Given the description of an element on the screen output the (x, y) to click on. 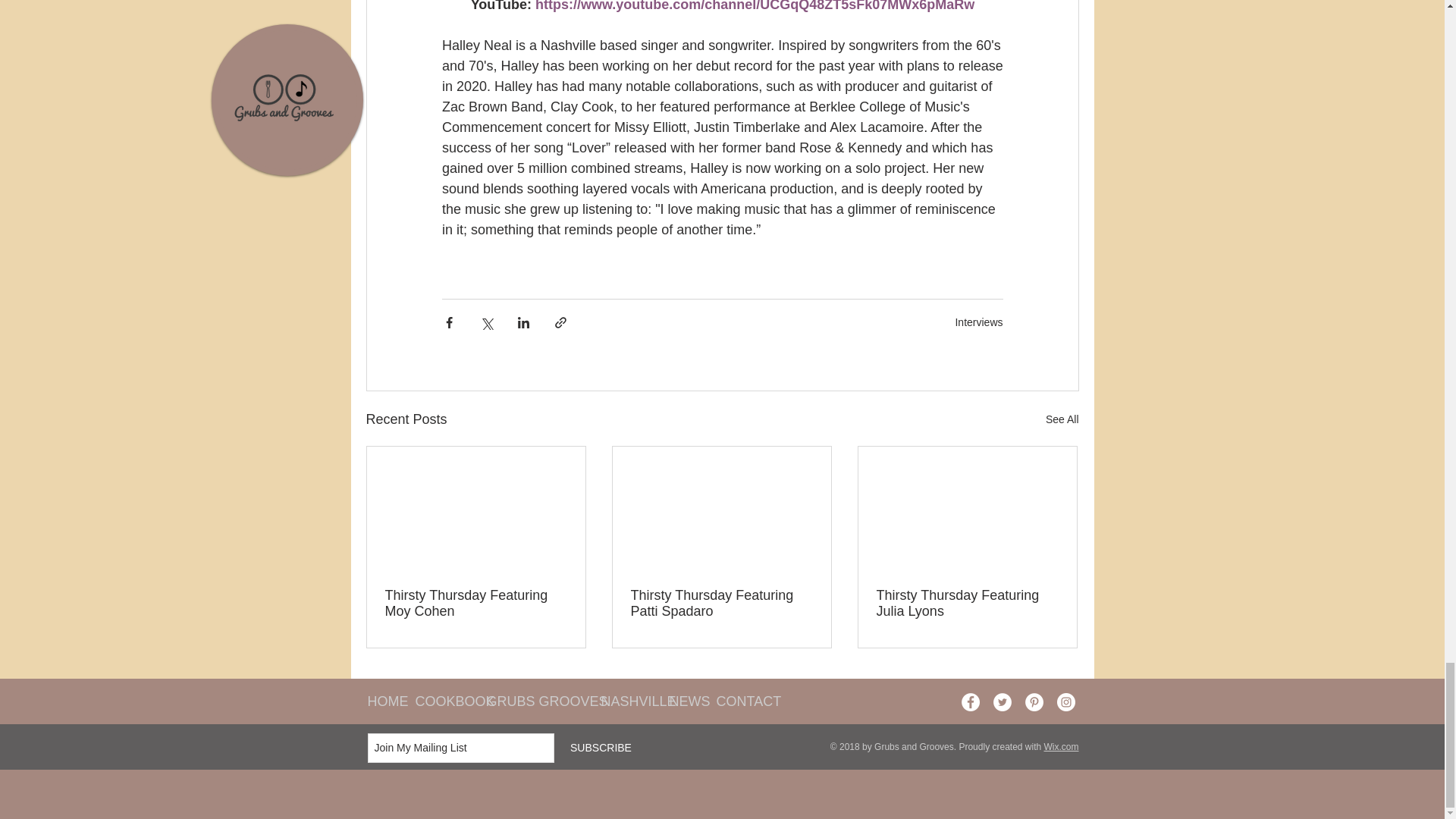
Thirsty Thursday Featuring Moy Cohen (476, 603)
Thirsty Thursday Featuring Patti Spadaro (721, 603)
See All (1061, 419)
Thirsty Thursday Featuring Julia Lyons (967, 603)
Interviews (979, 322)
